Given the description of an element on the screen output the (x, y) to click on. 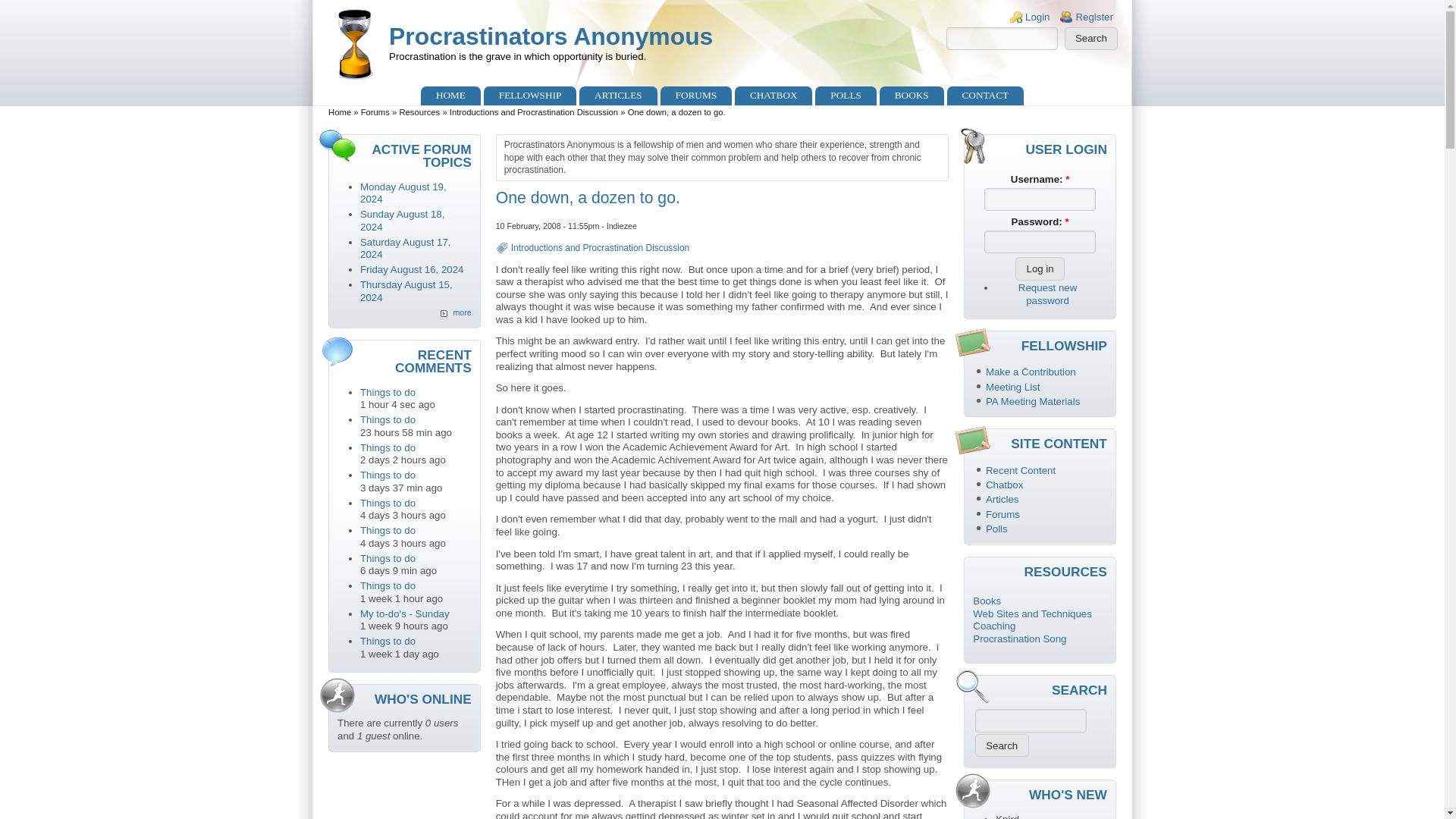
Forums (375, 112)
1 comment (401, 220)
more (454, 311)
Enter the terms you wish to search for. (1002, 38)
Request new password via e-mail. (1047, 293)
HOME (450, 96)
Sunday August 18, 2024 (401, 220)
Search (1002, 744)
Log in (1039, 268)
Skip to search (32, 0)
